Given the description of an element on the screen output the (x, y) to click on. 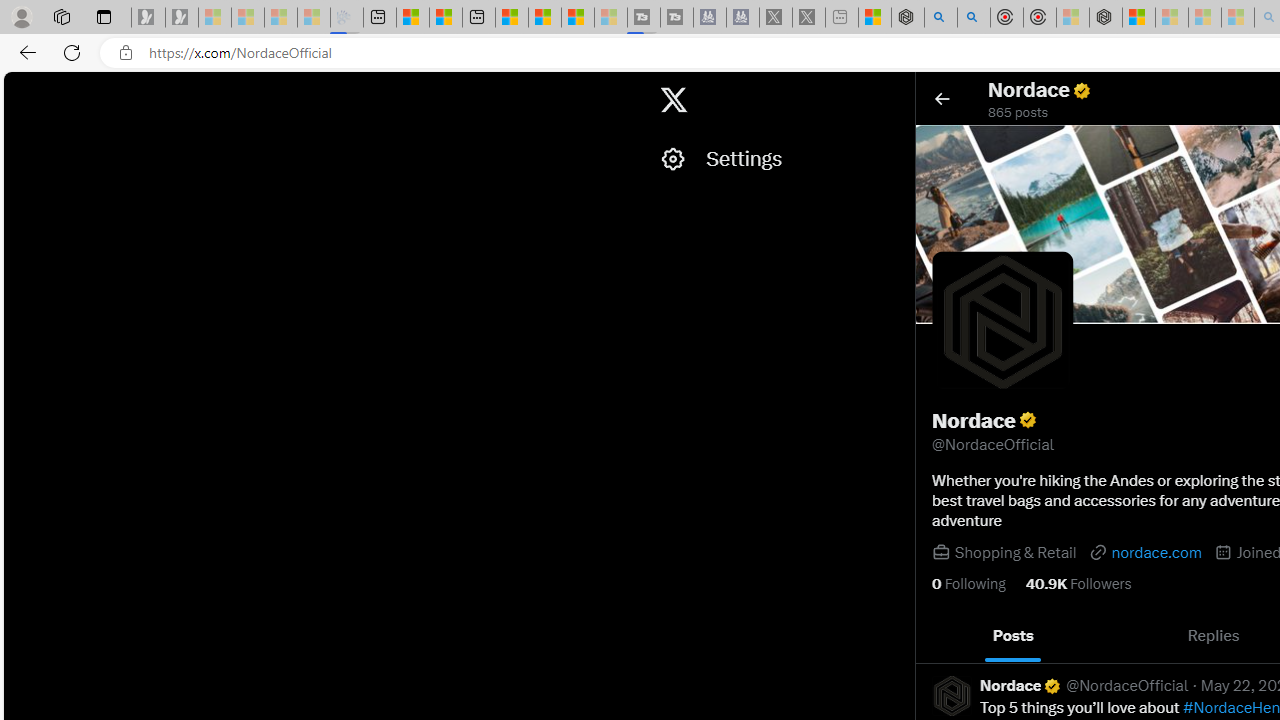
Square profile picture and Opens profile photo (1002, 321)
Skip to trending (21, 90)
0 Following (968, 583)
Square profile picture and Opens profile photo (1003, 322)
@NordaceOfficial (1127, 685)
Skip to home timeline (21, 90)
Settings (777, 159)
Square profile picture (951, 695)
